Given the description of an element on the screen output the (x, y) to click on. 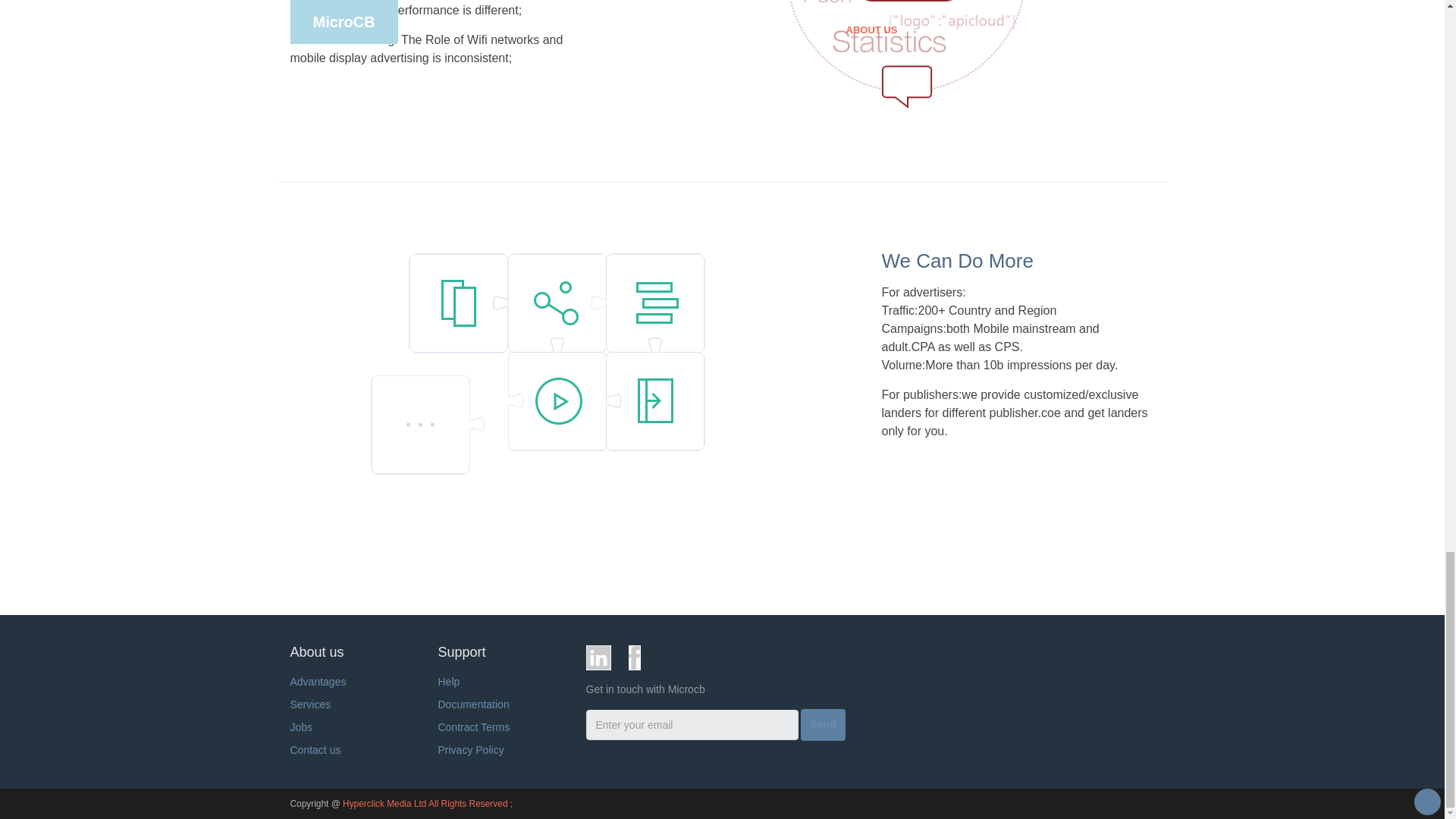
Hyperclick Media Ltd All Rights Reserved ; (427, 803)
Contact us (314, 749)
Jobs (301, 727)
Contract Terms (474, 727)
Services (309, 704)
Privacy Policy (470, 749)
Advantages (317, 681)
Help (449, 681)
Send (822, 725)
Send (822, 724)
Documentation (473, 704)
